Given the description of an element on the screen output the (x, y) to click on. 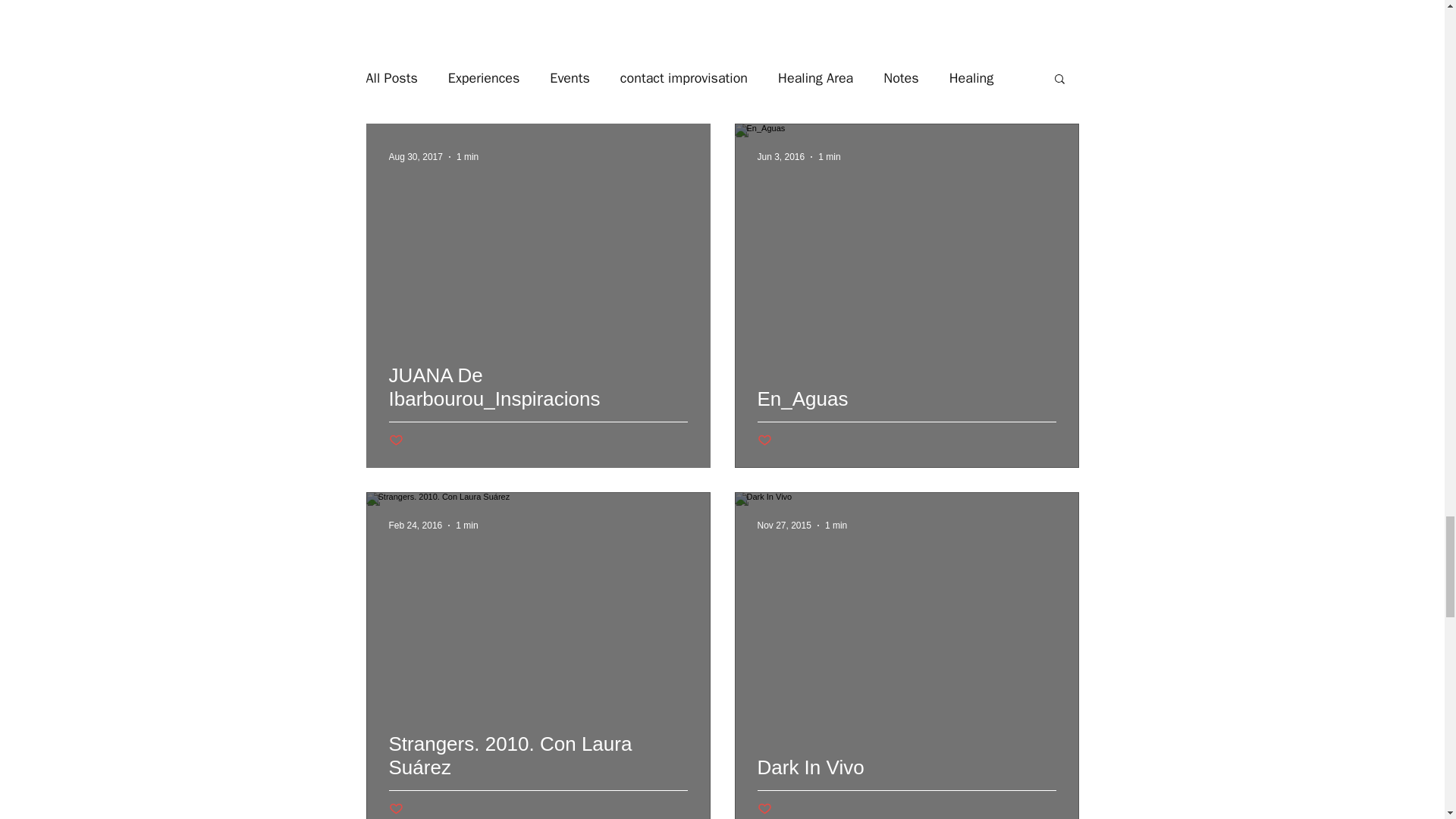
Healing (971, 77)
Post not marked as liked (395, 440)
Post not marked as liked (395, 809)
Events (569, 77)
Post not marked as liked (764, 440)
Aug 30, 2017 (415, 156)
1 min (836, 525)
Post not marked as liked (764, 809)
Notes (900, 77)
1 min (466, 525)
contact improvisation (684, 77)
Nov 27, 2015 (783, 525)
Experiences (483, 77)
Healing Area (815, 77)
All Posts (390, 77)
